Given the description of an element on the screen output the (x, y) to click on. 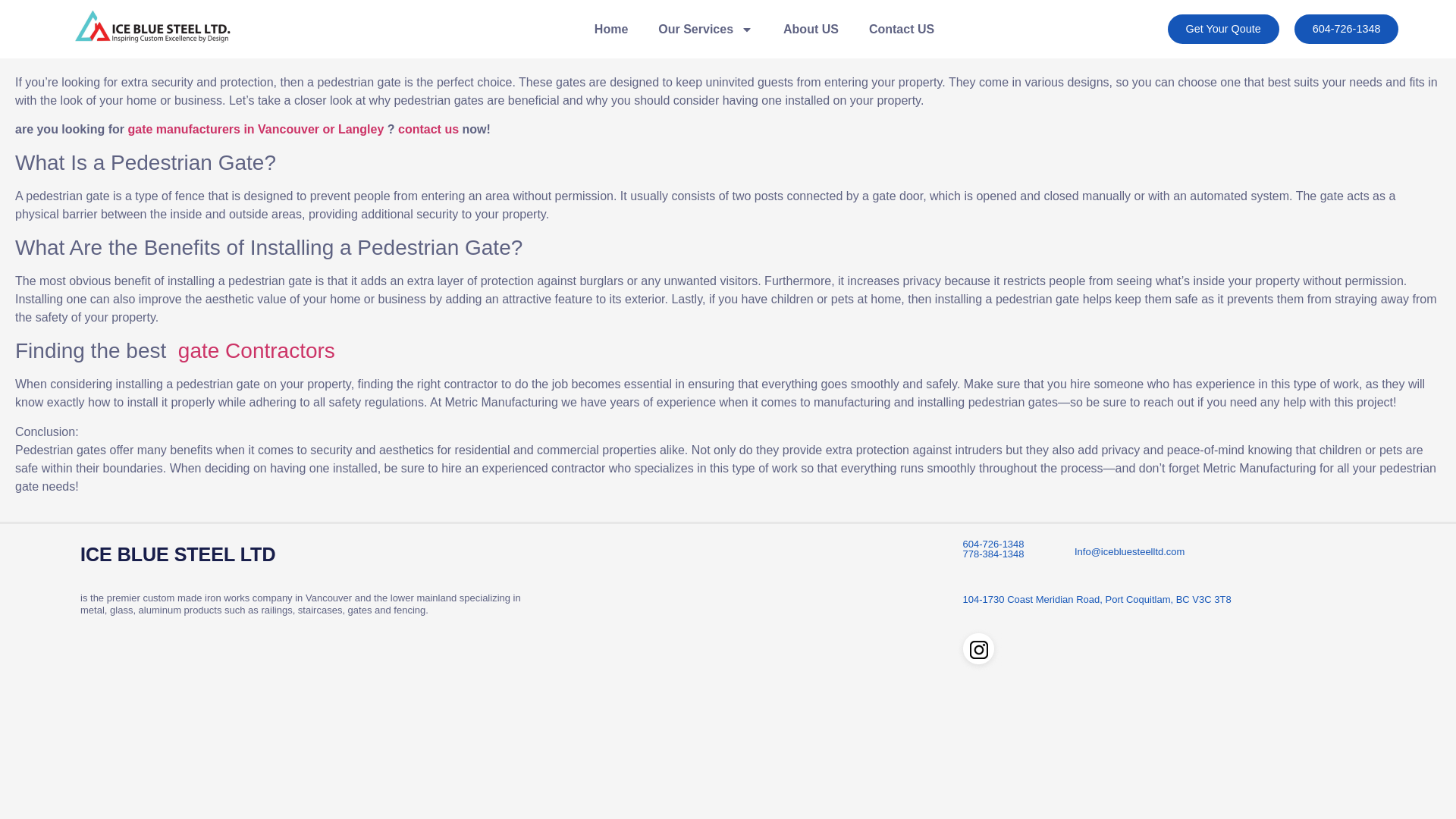
Home (611, 29)
Our Services (705, 29)
Contact US (901, 29)
About US (810, 29)
